Given the description of an element on the screen output the (x, y) to click on. 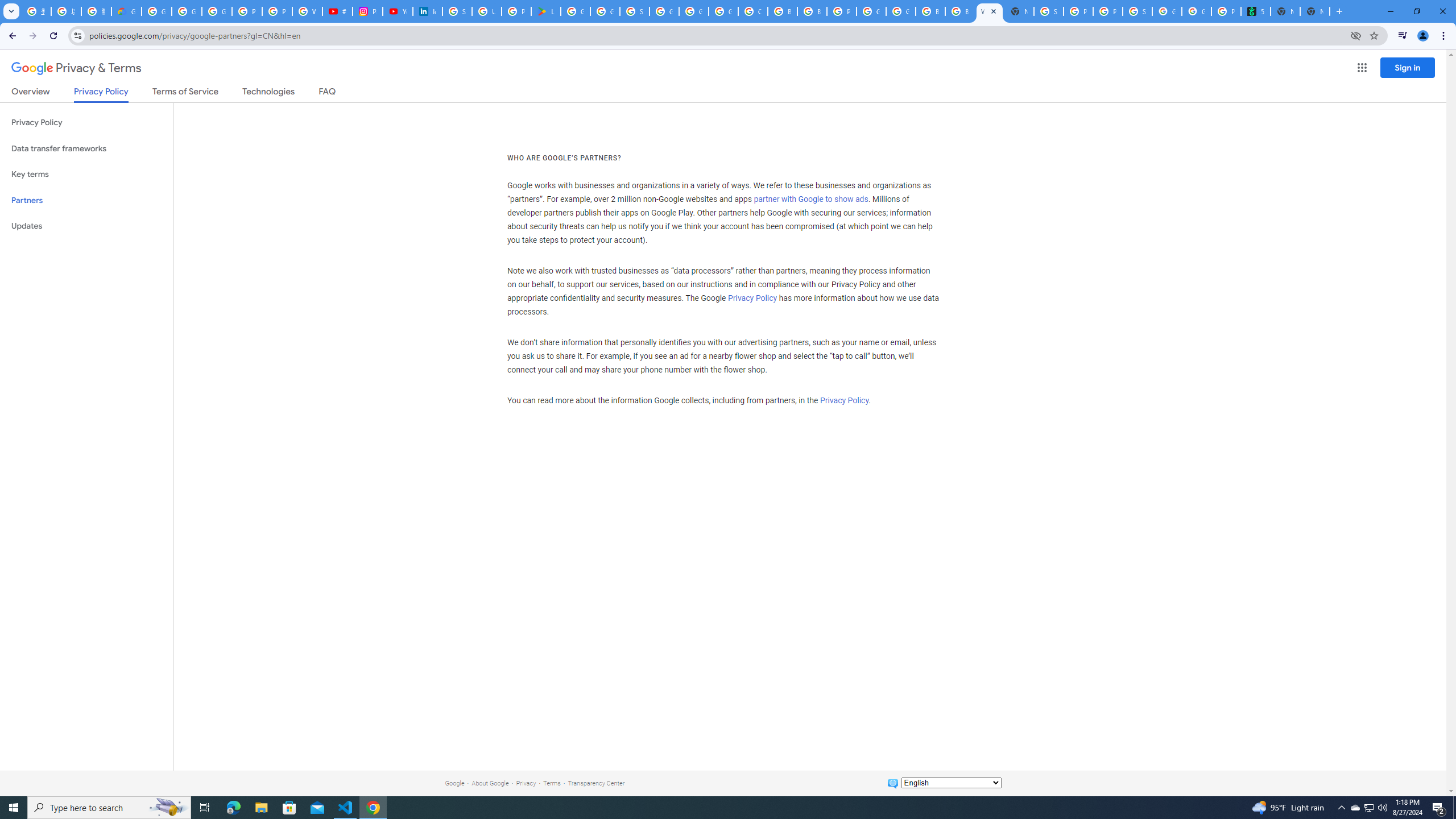
Google Cloud Platform (693, 11)
FAQ (327, 93)
Browse Chrome as a guest - Computer - Google Chrome Help (811, 11)
#nbabasketballhighlights - YouTube (337, 11)
Identity verification via Persona | LinkedIn Help (426, 11)
Address and search bar (715, 35)
Third-party cookies blocked (1355, 35)
Change language: (951, 782)
